Given the description of an element on the screen output the (x, y) to click on. 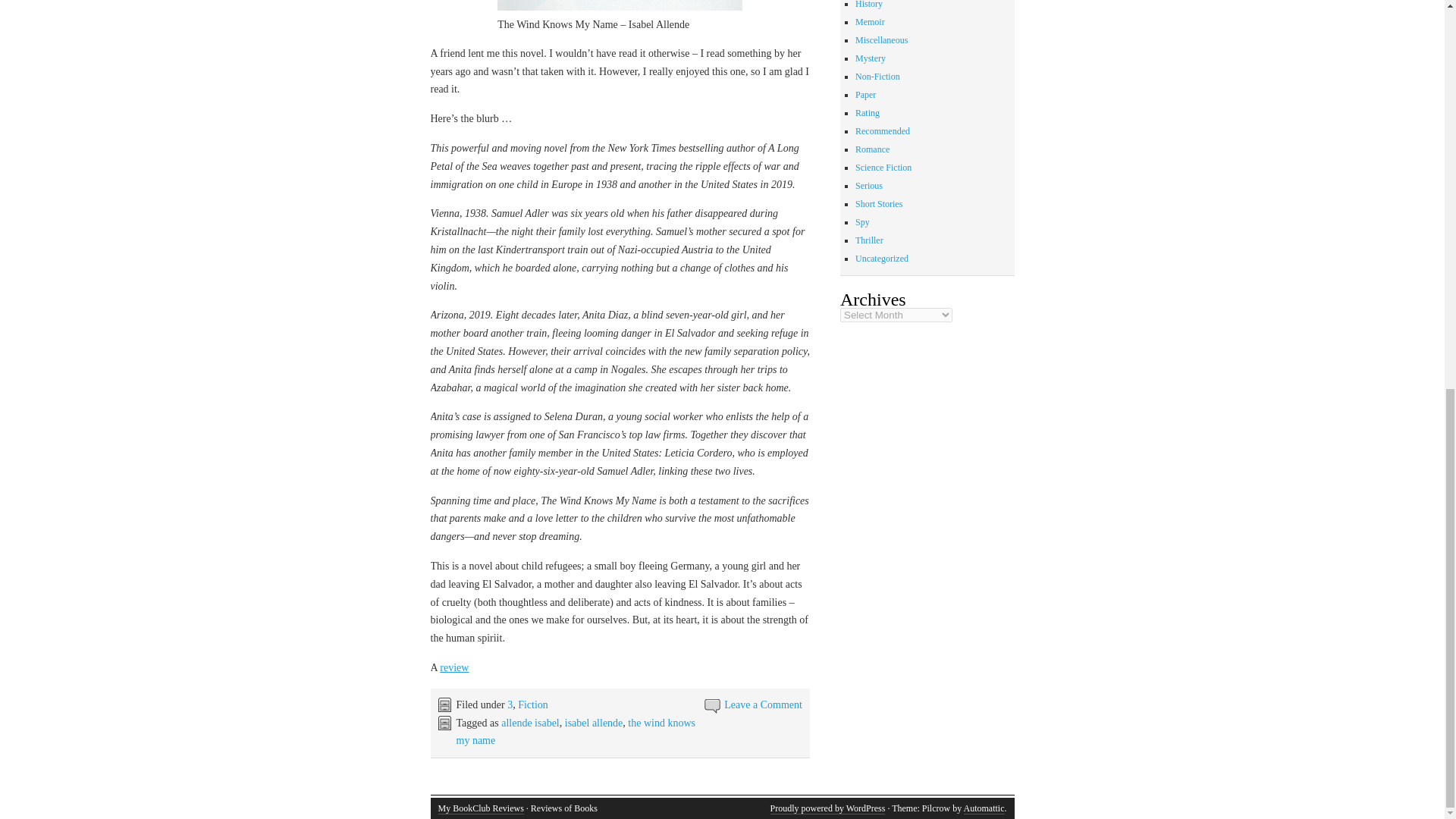
allende isabel (529, 722)
History (869, 4)
My BookClub Reviews (481, 808)
Fiction (533, 704)
Miscellaneous (881, 40)
Recommended (883, 131)
review (453, 667)
Memoir (870, 21)
Non-Fiction (877, 76)
Mystery (870, 58)
Rating (867, 112)
isabel allende (593, 722)
Paper (866, 94)
A Semantic Personal Publishing Platform (827, 808)
Leave a Comment (762, 704)
